Given the description of an element on the screen output the (x, y) to click on. 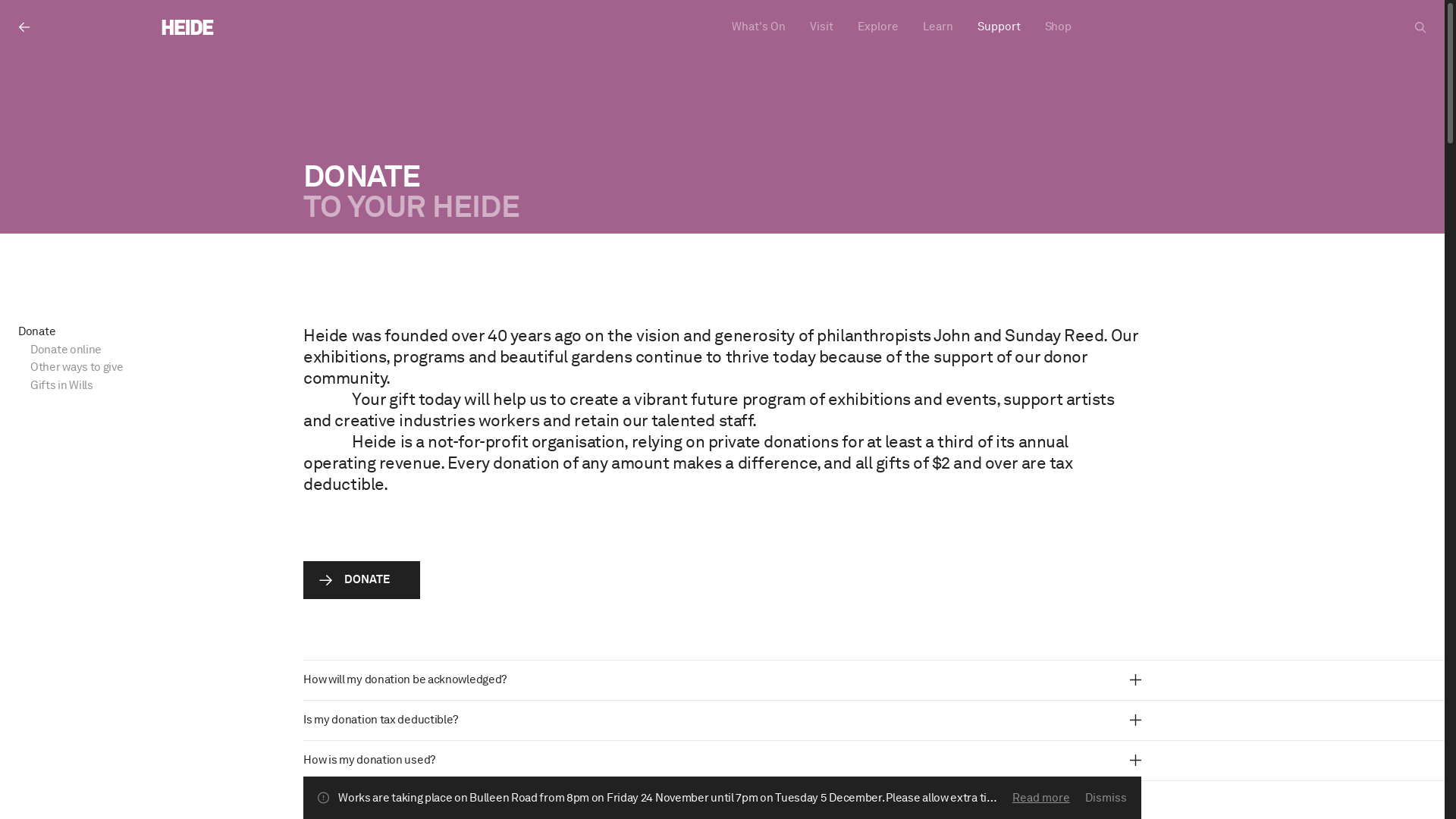
Other ways to give Element type: text (108, 367)
Learn Element type: text (937, 26)
Explore Element type: text (876, 26)
Dismiss Element type: text (1105, 798)
Shop Element type: text (1057, 26)
Support Element type: text (997, 26)
Read more Element type: text (1041, 797)
search Element type: hover (1420, 26)
What's On Element type: text (757, 26)
DONATE Element type: text (361, 580)
Gifts in Wills Element type: text (108, 385)
Donate online Element type: text (108, 349)
Visit Element type: text (821, 26)
